Given the description of an element on the screen output the (x, y) to click on. 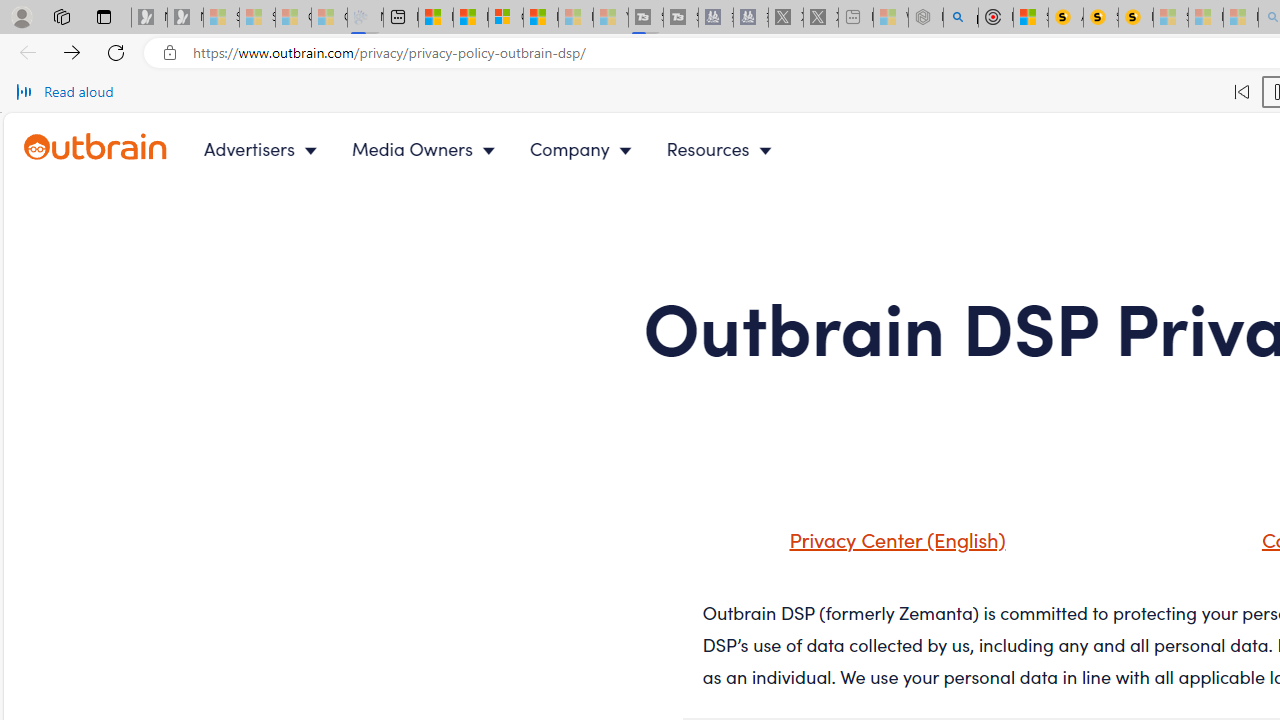
Privacy Center (English) (872, 546)
Outbrain logo - link to homepage (96, 147)
Outbrain logo - link to homepage (118, 148)
Skip navigation to go to main content (60, 124)
Forward (72, 52)
Overview (506, 17)
Read previous paragraph (1241, 92)
Microsoft Start - Sleeping (575, 17)
Privacy Center (English) (892, 538)
Michelle Starr, Senior Journalist at ScienceAlert (1135, 17)
Newsletter Sign Up - Sleeping (185, 17)
